Given the description of an element on the screen output the (x, y) to click on. 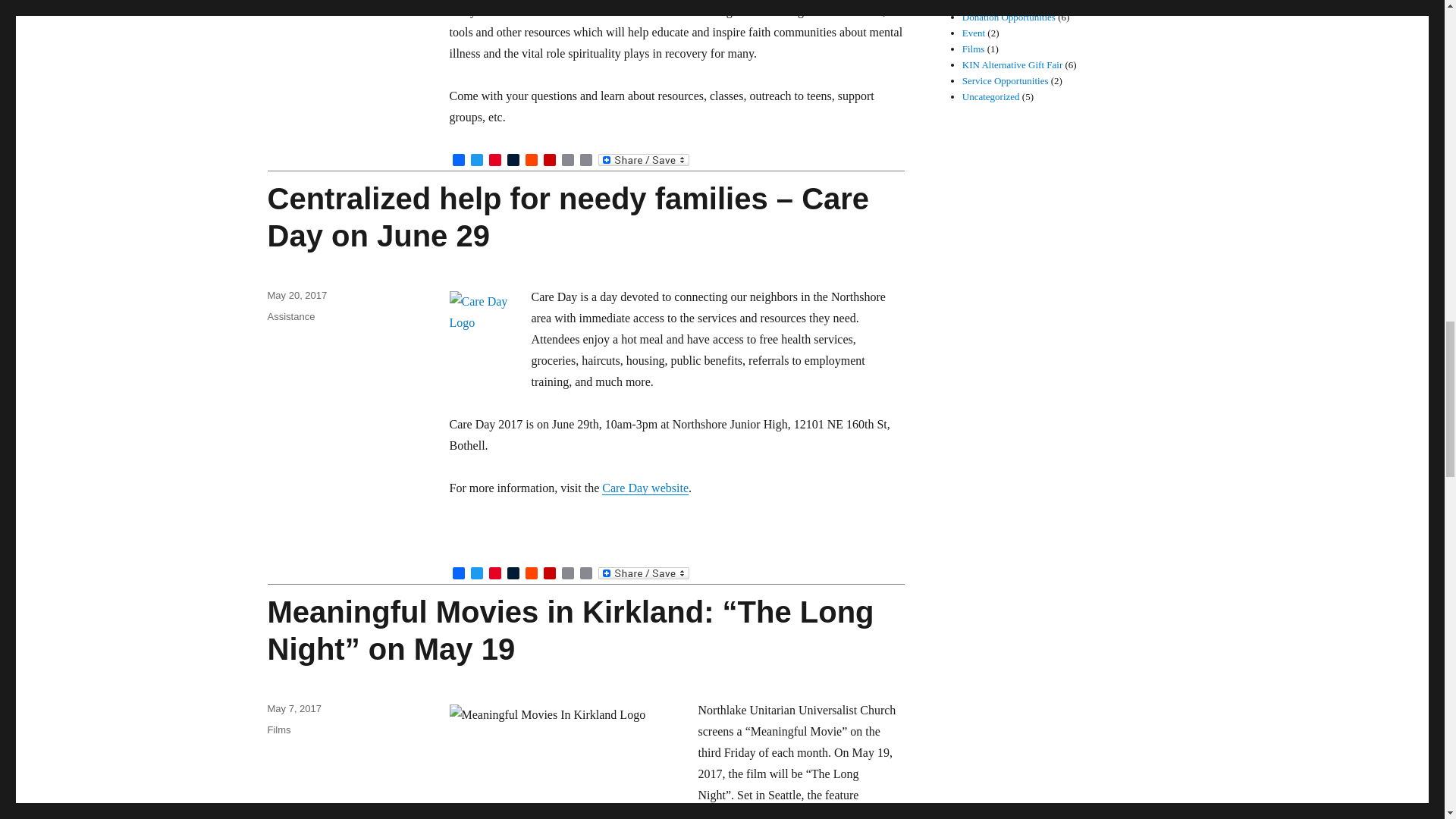
Copy Link (585, 160)
Facebook (457, 574)
Twitter (475, 160)
Pinterest (493, 160)
Facebook (457, 160)
Flipboard (548, 160)
Email (566, 160)
Email (566, 160)
Reddit (530, 160)
Tumblr (512, 160)
